Given the description of an element on the screen output the (x, y) to click on. 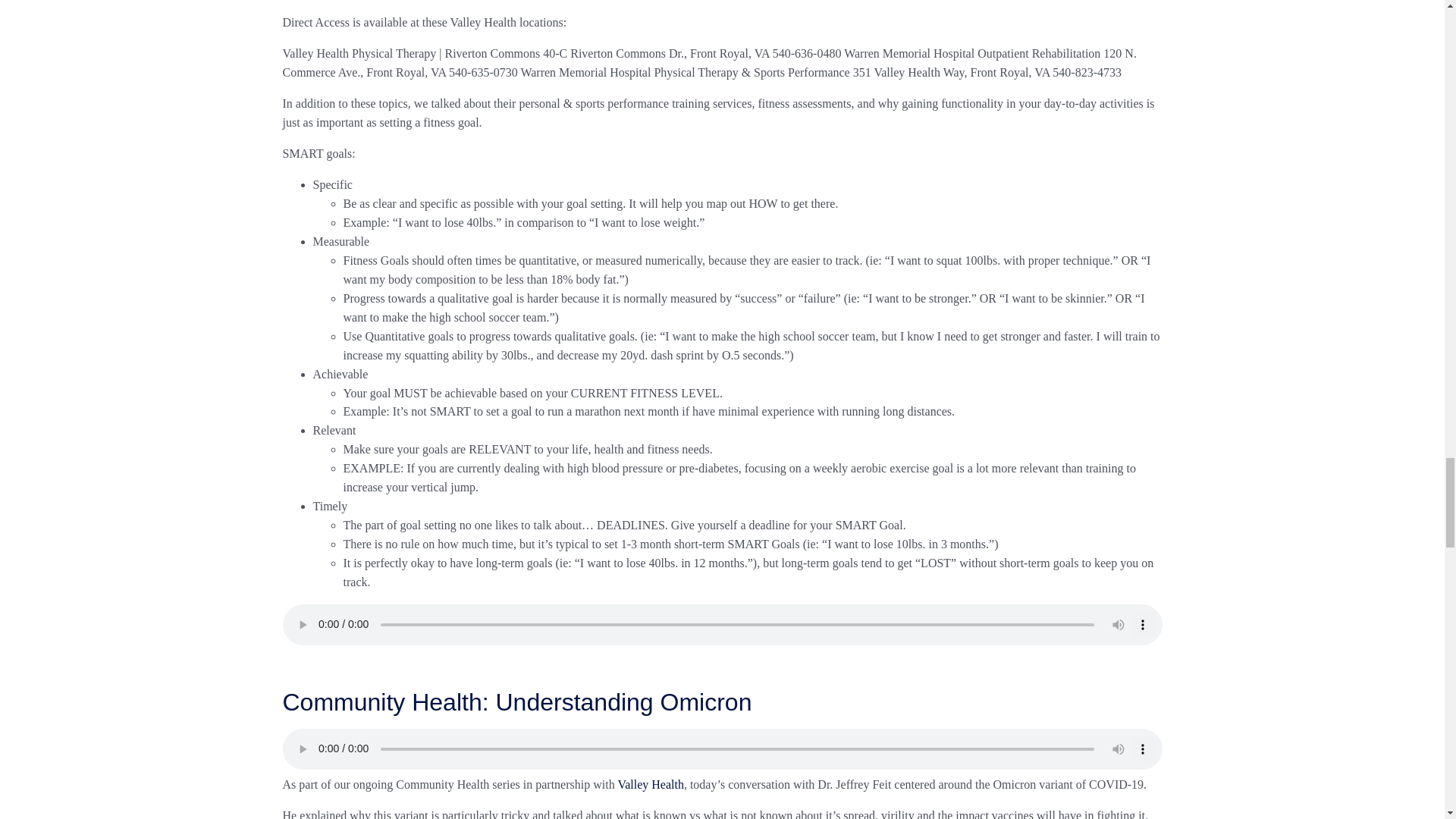
Community Health: Understanding Omicron (516, 701)
